Given the description of an element on the screen output the (x, y) to click on. 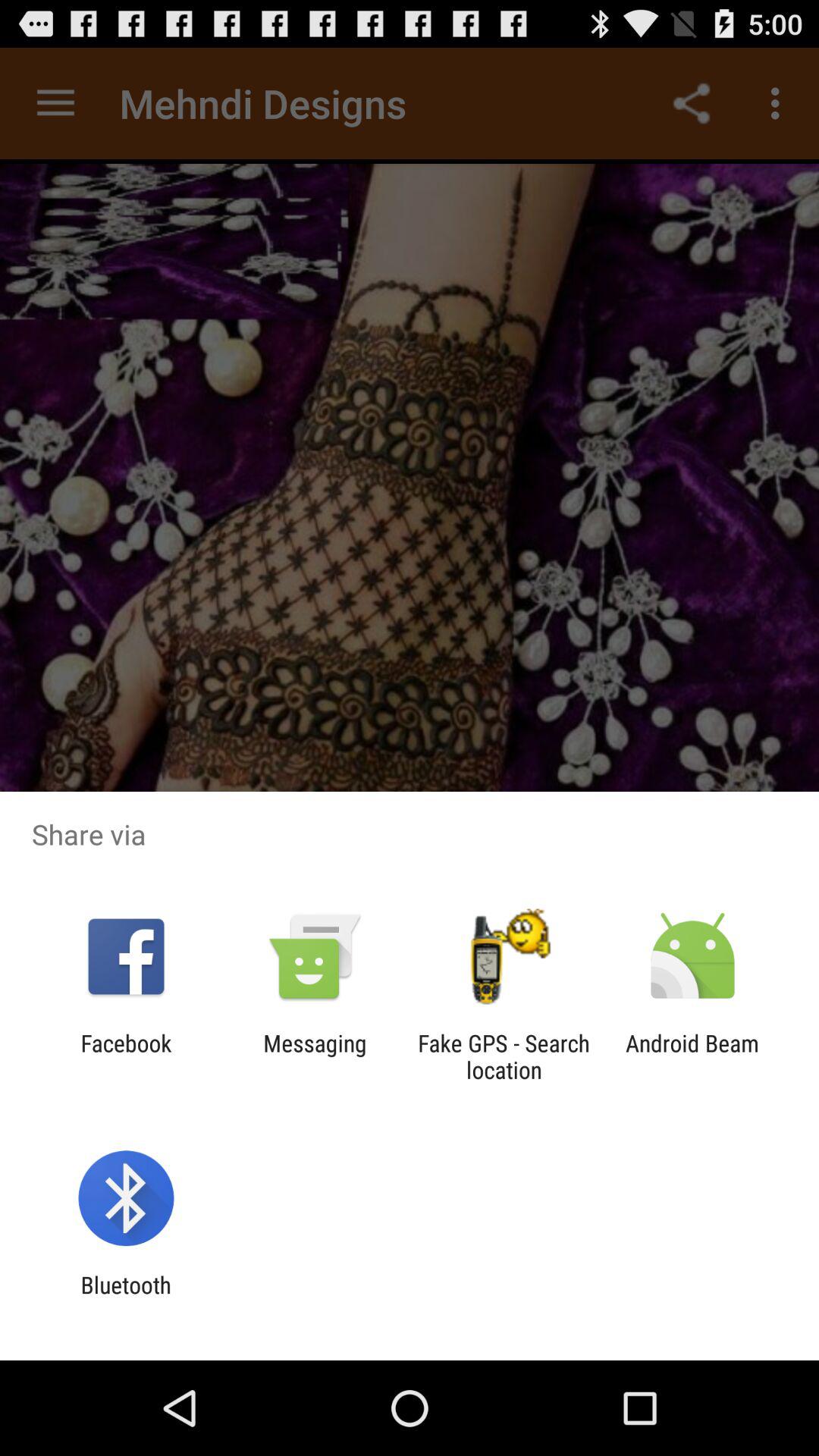
select the item to the right of facebook (314, 1056)
